Given the description of an element on the screen output the (x, y) to click on. 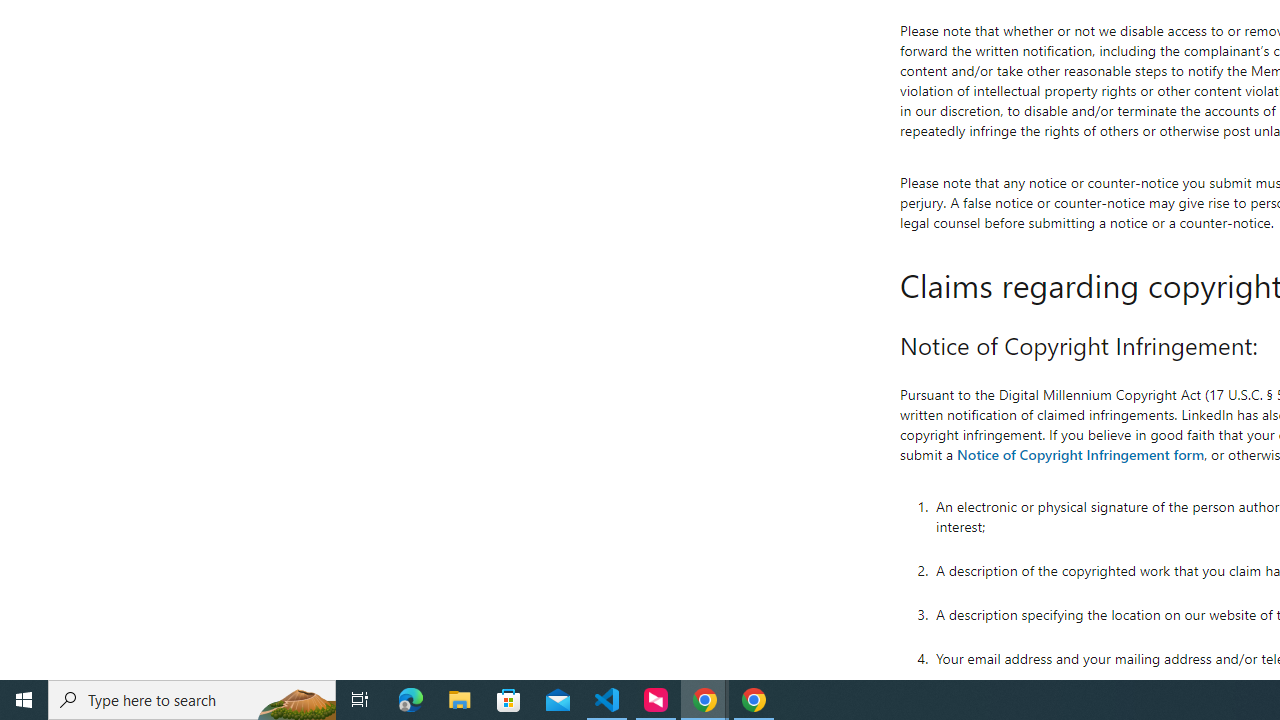
Notice of Copyright Infringement form (1080, 453)
